Given the description of an element on the screen output the (x, y) to click on. 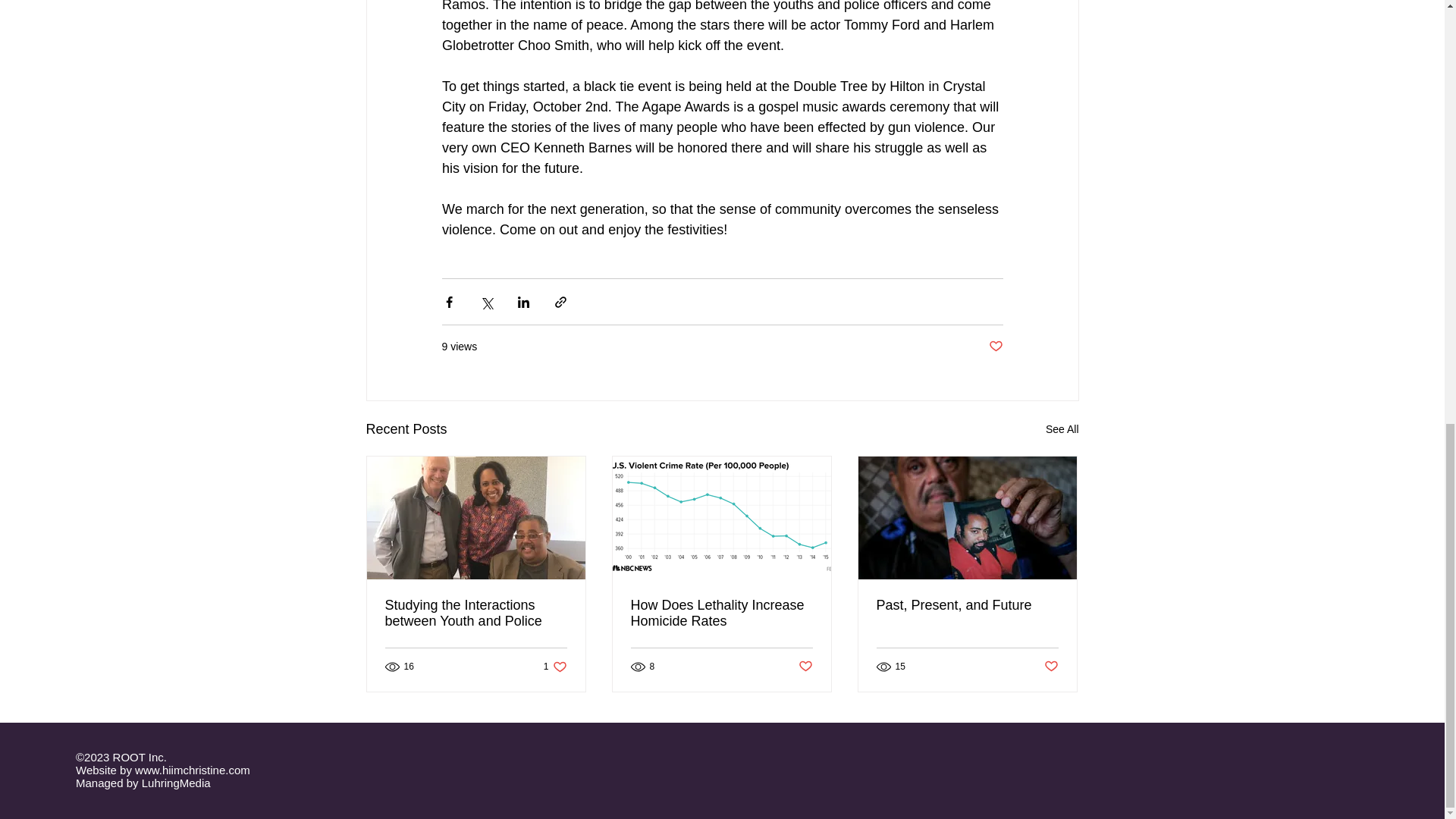
Post not marked as liked (804, 666)
Past, Present, and Future (967, 605)
Post not marked as liked (1050, 666)
Studying the Interactions between Youth and Police (476, 613)
Post not marked as liked (995, 346)
www.hiimchristine.com (192, 769)
See All (555, 667)
How Does Lethality Increase Homicide Rates (1061, 429)
